Given the description of an element on the screen output the (x, y) to click on. 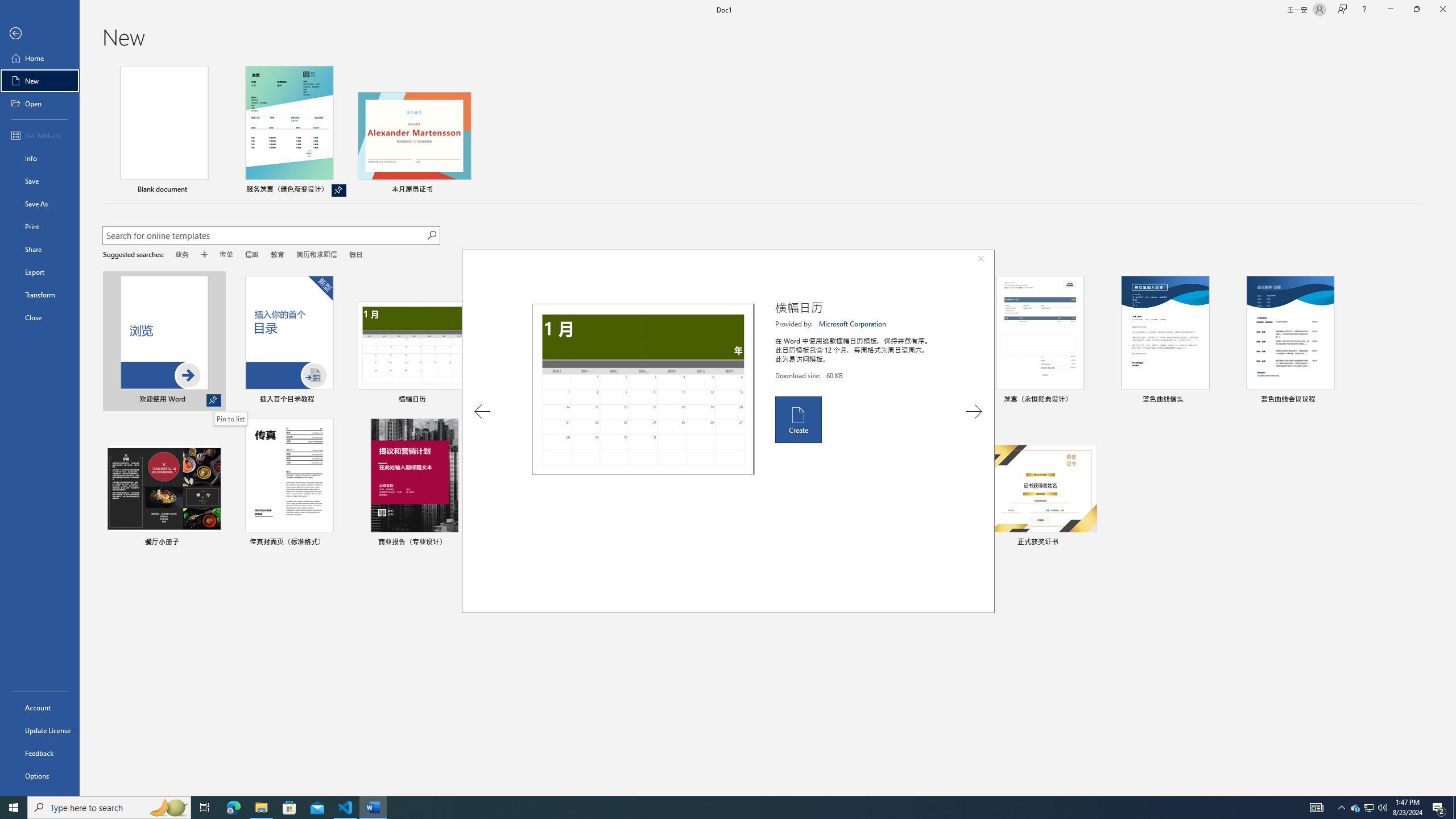
Feedback (40, 753)
Next Template (974, 411)
Options (40, 775)
Save As (40, 203)
Preview (643, 389)
Info (40, 157)
Blank document (164, 131)
